Given the description of an element on the screen output the (x, y) to click on. 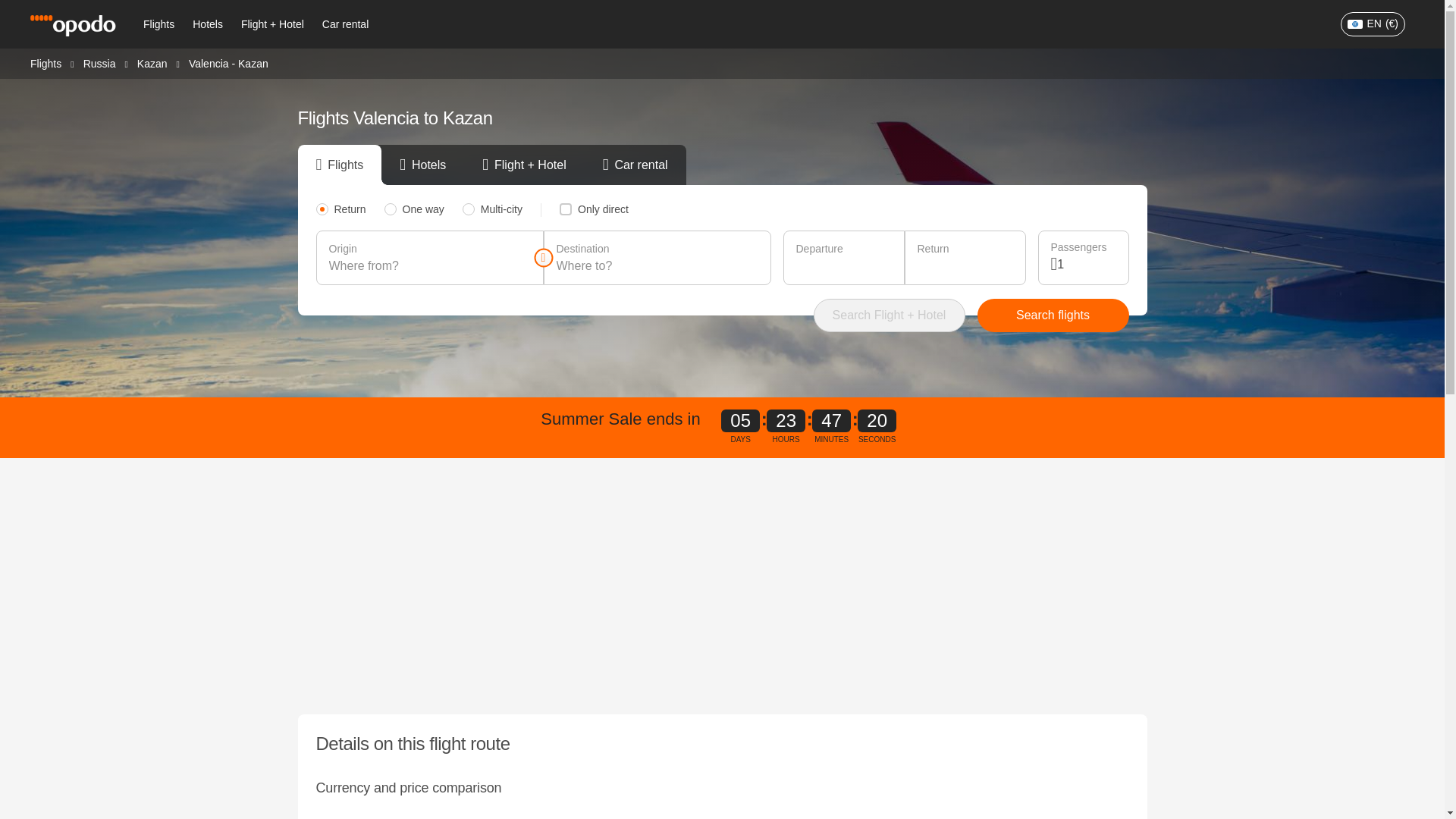
Kazan (151, 62)
Flights (45, 62)
Car rental (345, 24)
Russia (99, 62)
Hotels (207, 24)
Flights (158, 24)
Valencia - Kazan (228, 63)
1 (1086, 263)
Search flights (1052, 315)
